Given the description of an element on the screen output the (x, y) to click on. 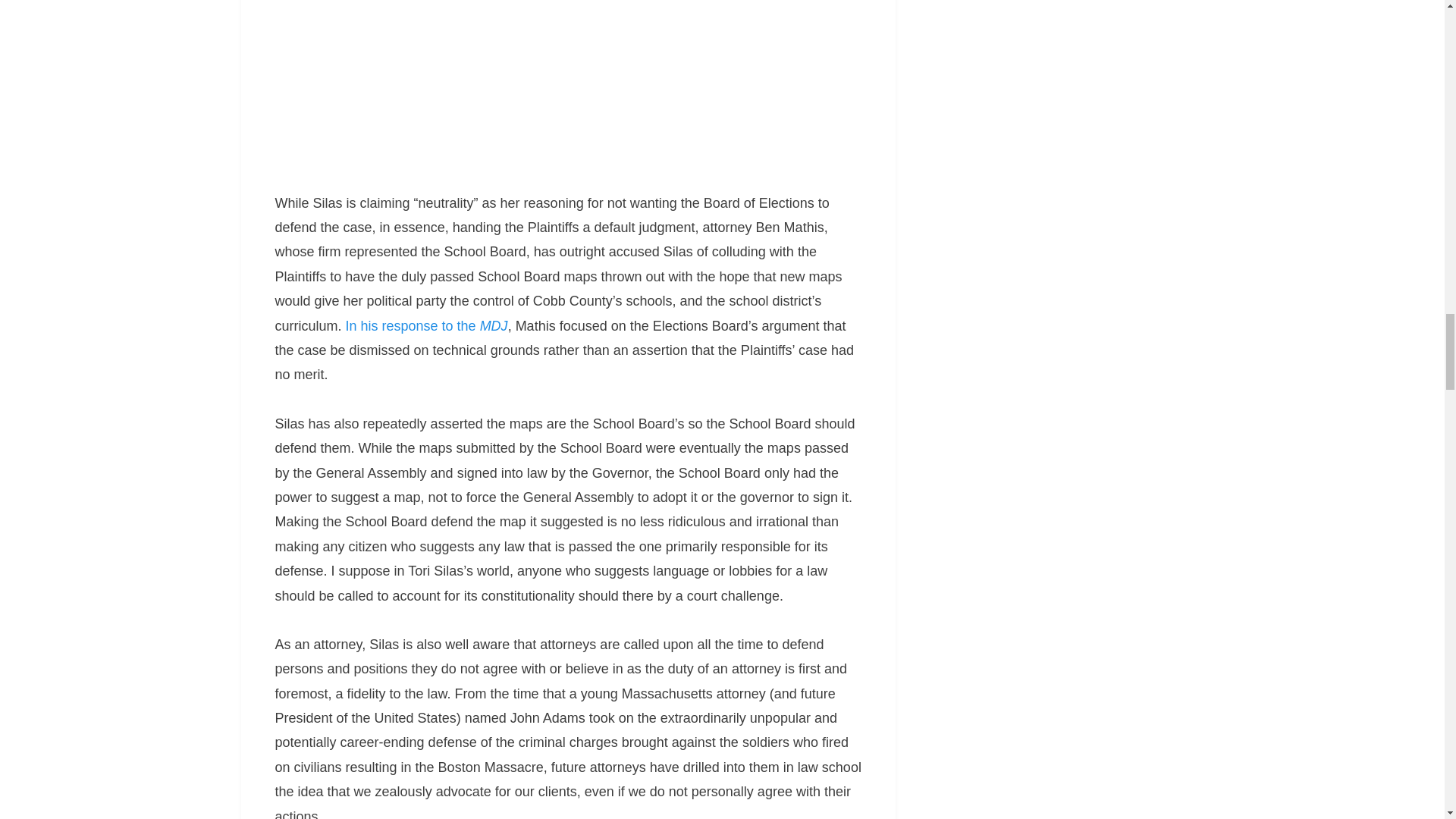
In his response to the MDJ (427, 325)
